Given the description of an element on the screen output the (x, y) to click on. 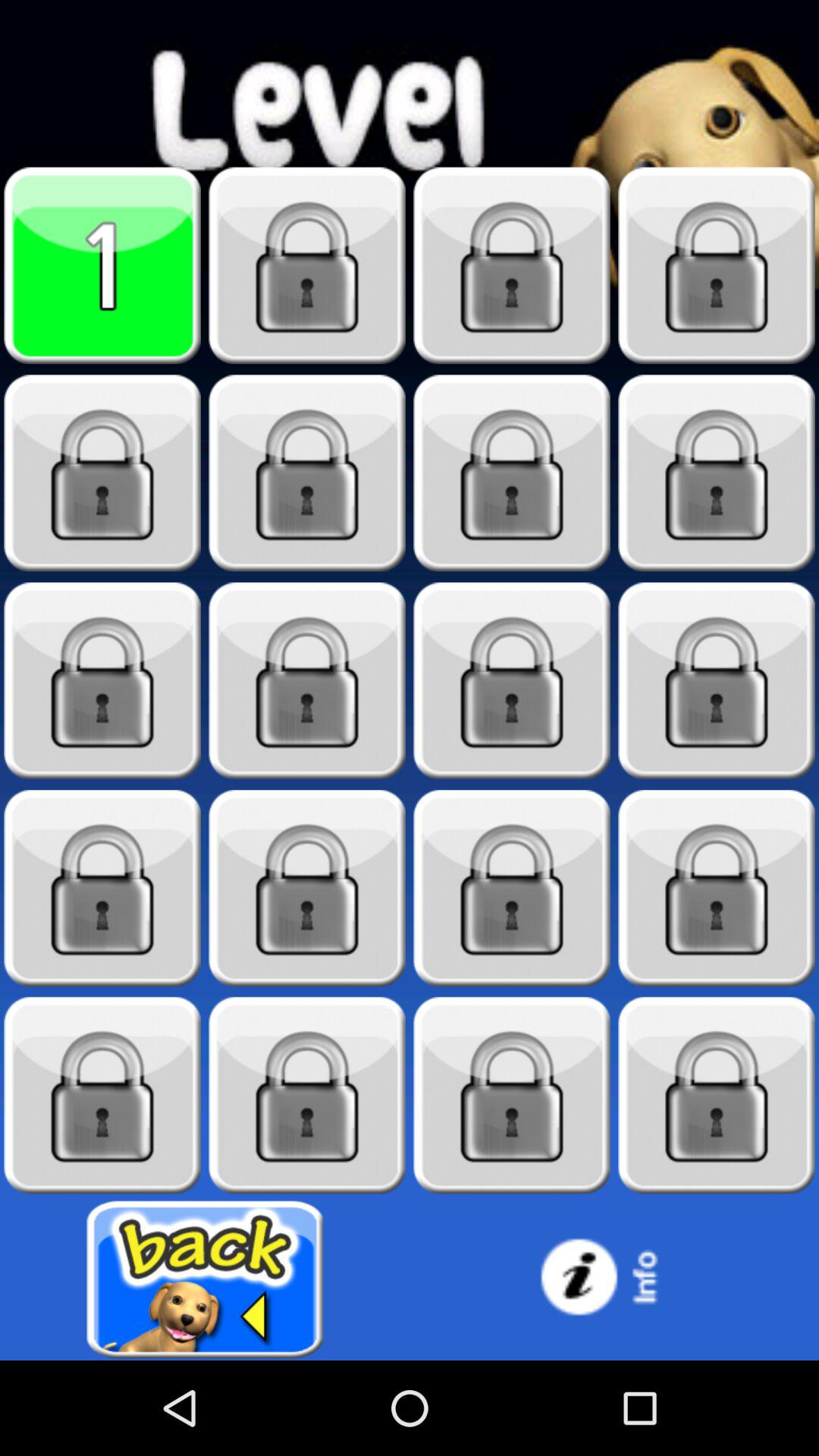
select the lock (306, 680)
